Given the description of an element on the screen output the (x, y) to click on. 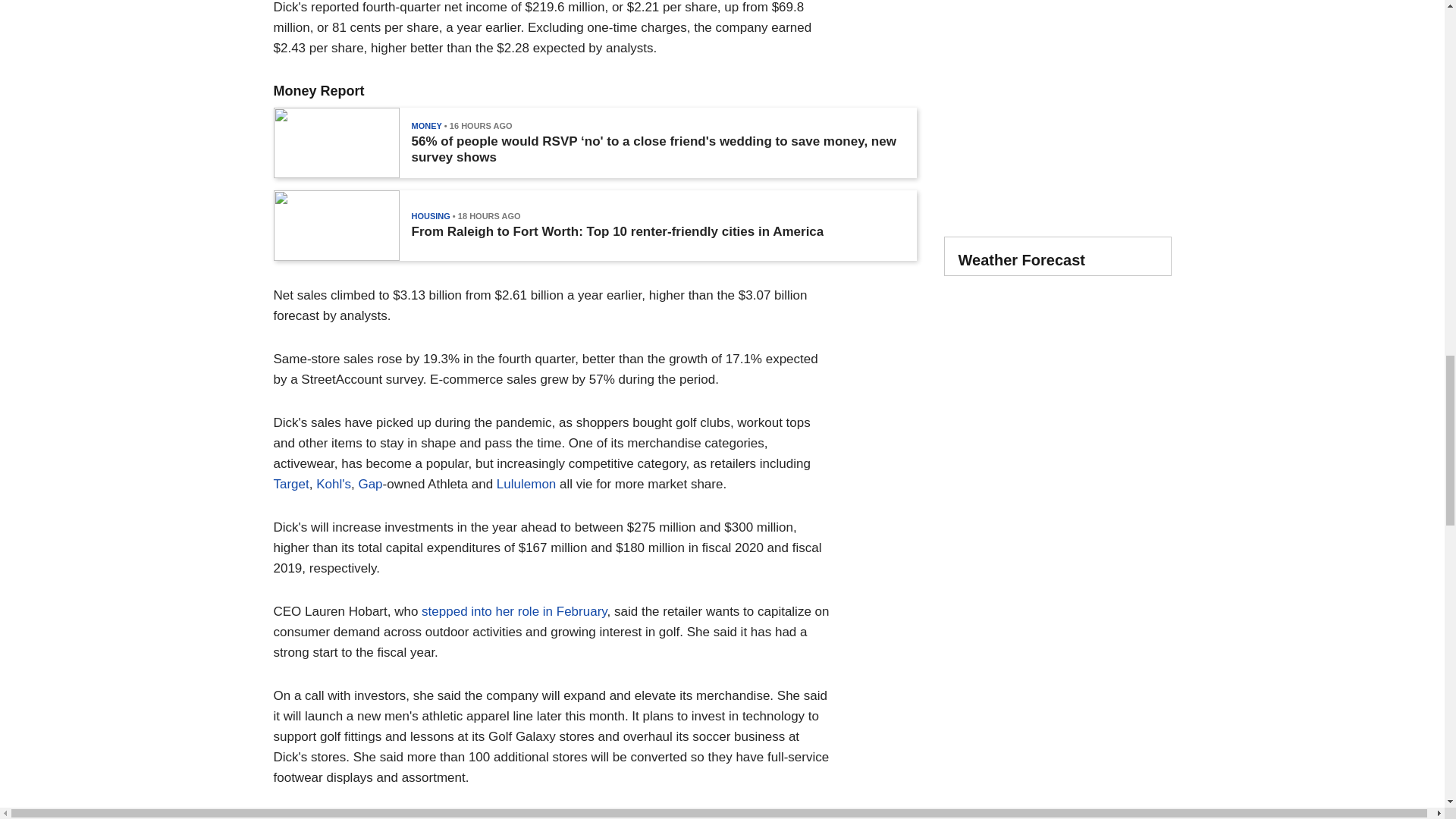
Target (290, 483)
Kohl's (332, 483)
MONEY (425, 125)
HOUSING (429, 215)
